Given the description of an element on the screen output the (x, y) to click on. 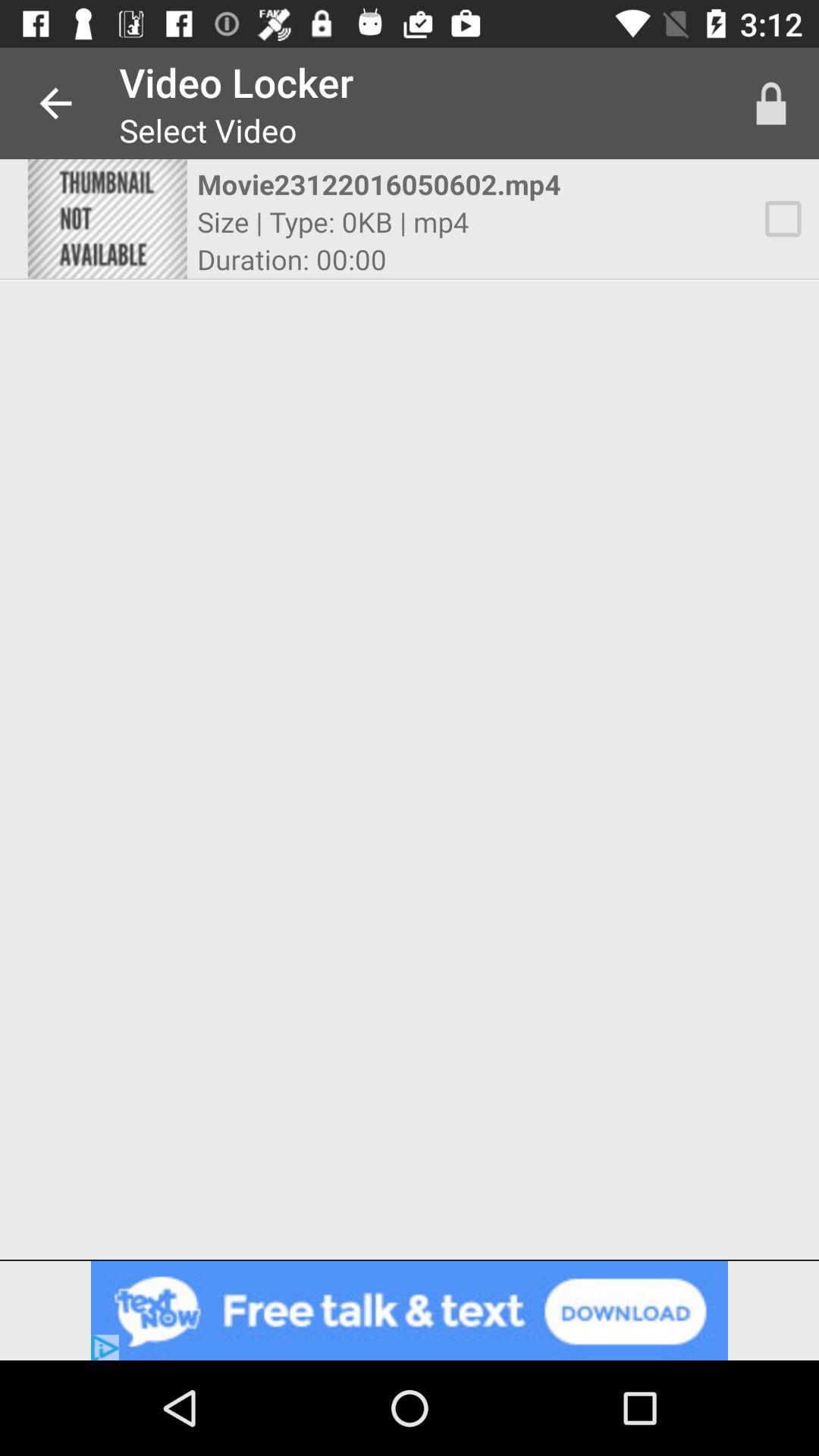
open item to the right of movie23122016050602.mp4 item (771, 103)
